Given the description of an element on the screen output the (x, y) to click on. 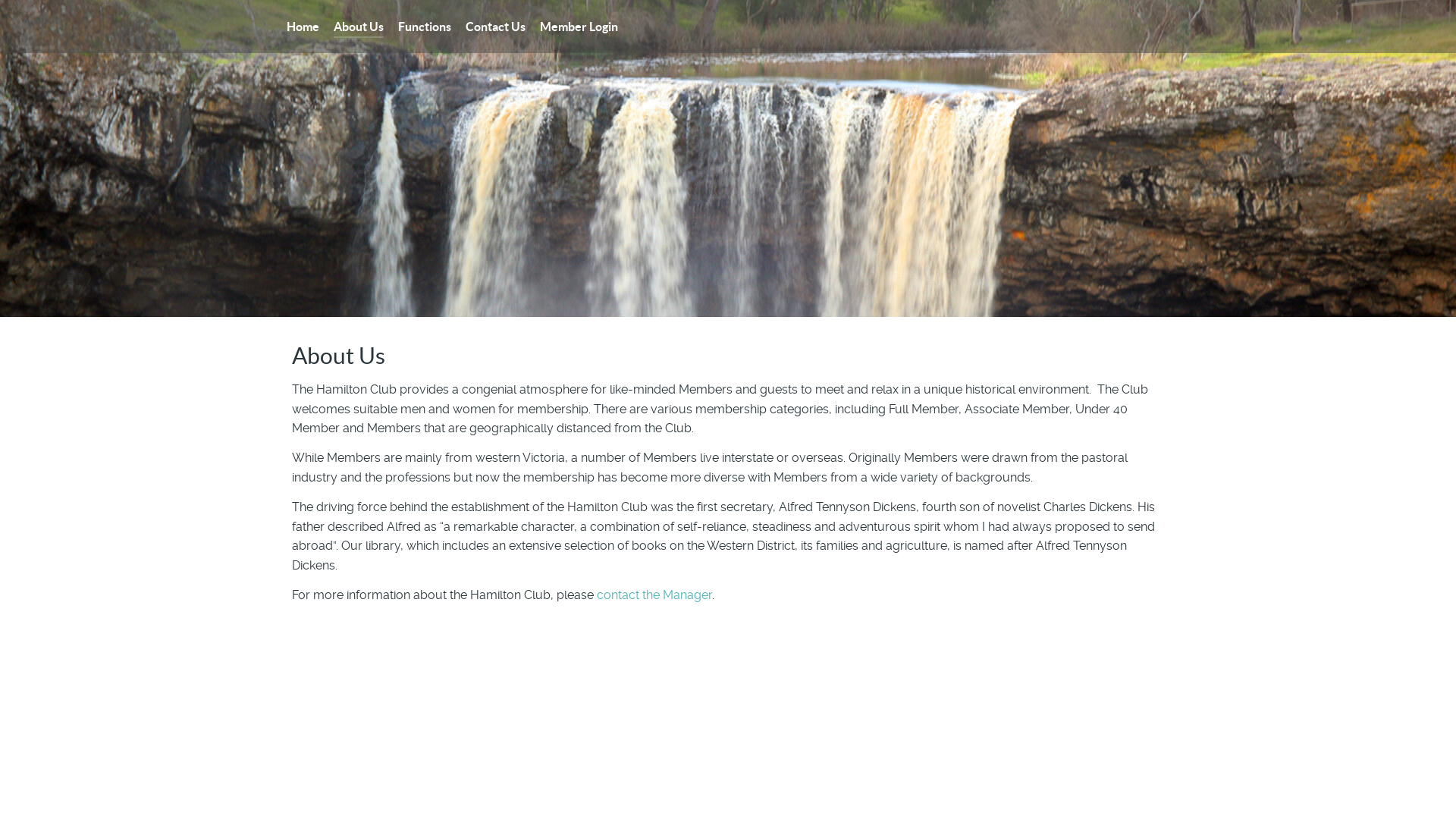
contact the Manager Element type: text (654, 594)
Home Element type: text (302, 27)
Member Login Element type: text (578, 27)
Functions Element type: text (424, 27)
About Us Element type: text (358, 27)
Contact Us Element type: text (495, 27)
